Given the description of an element on the screen output the (x, y) to click on. 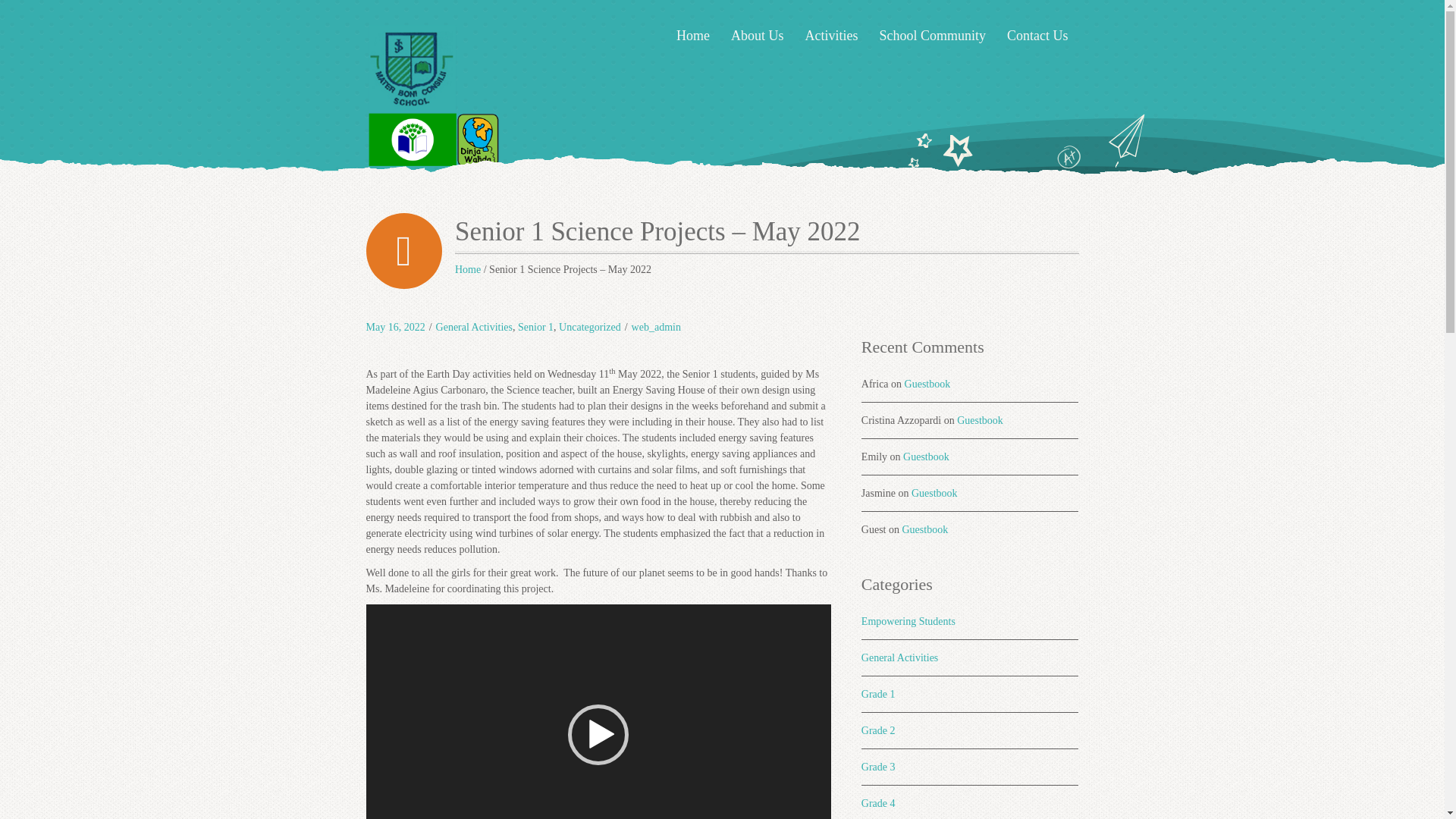
Grade 4 (878, 803)
Grade 1 (878, 694)
Empowering Students (908, 621)
Senior 1 (535, 326)
General Activities (899, 657)
About Us (757, 35)
Guestbook (979, 419)
Contact Us (1036, 35)
Grade 2 (878, 730)
Guestbook (925, 456)
Guestbook (925, 529)
Grade 3 (878, 767)
Home (467, 269)
Activities (830, 35)
Guestbook (934, 492)
